Given the description of an element on the screen output the (x, y) to click on. 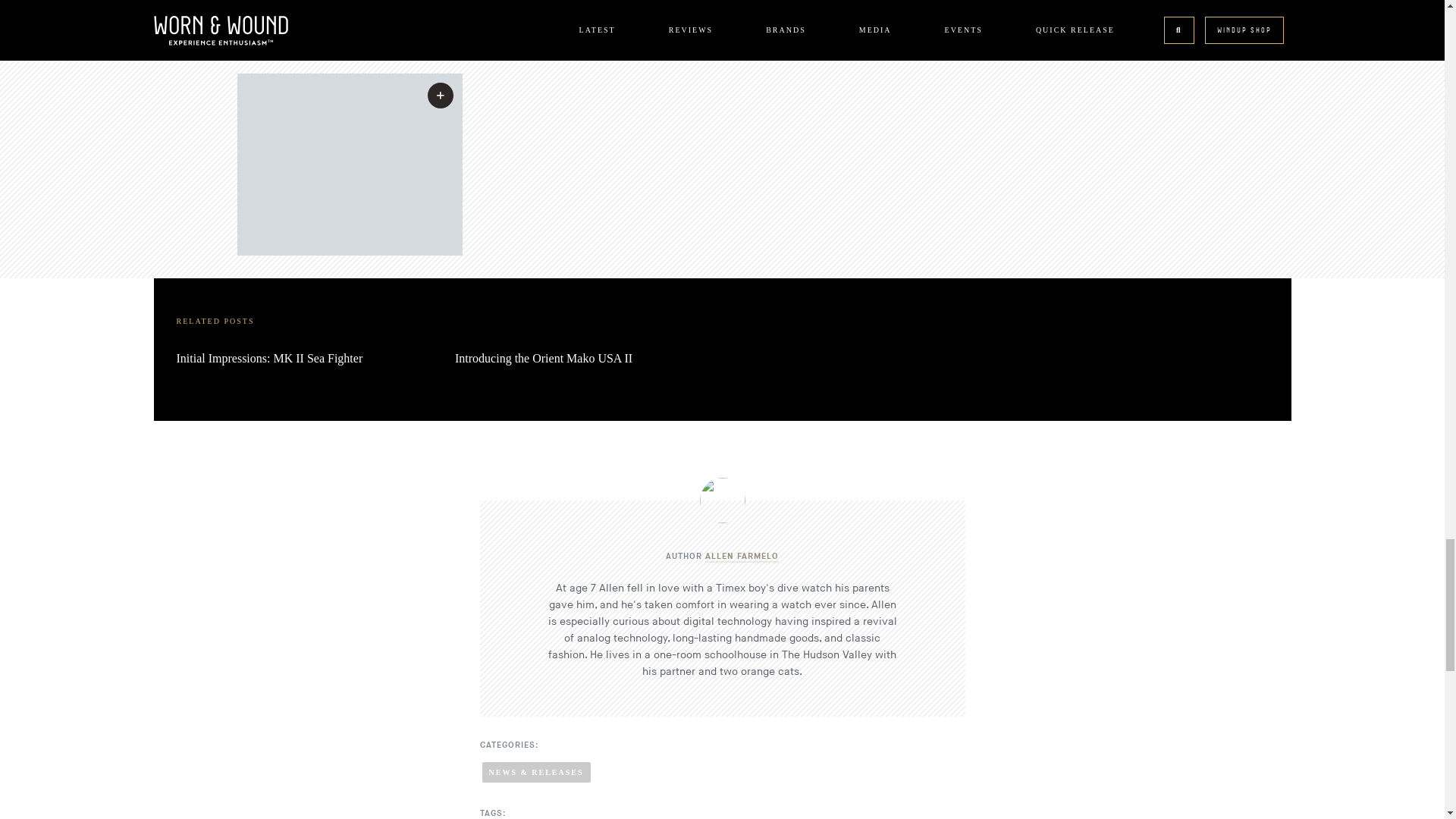
Posts by Allen Farmelo (741, 556)
